Given the description of an element on the screen output the (x, y) to click on. 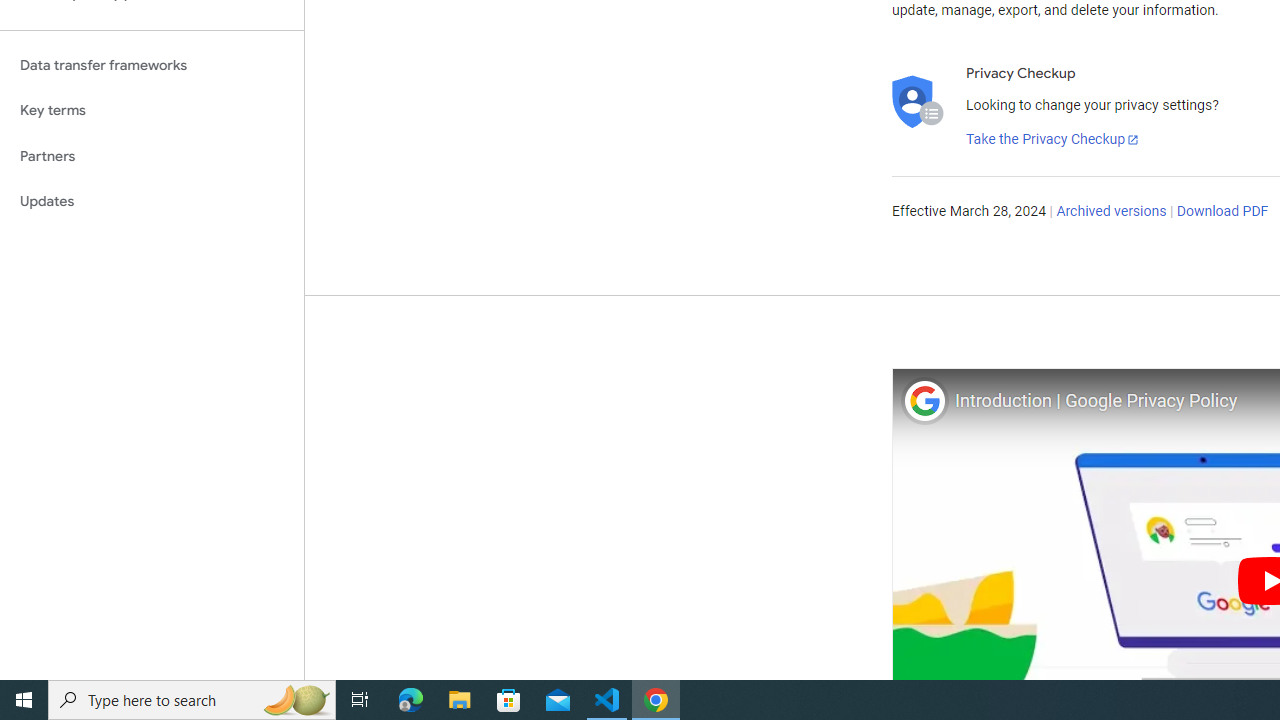
Photo image of Google (924, 400)
Take the Privacy Checkup (1053, 140)
Download PDF (1222, 212)
